Given the description of an element on the screen output the (x, y) to click on. 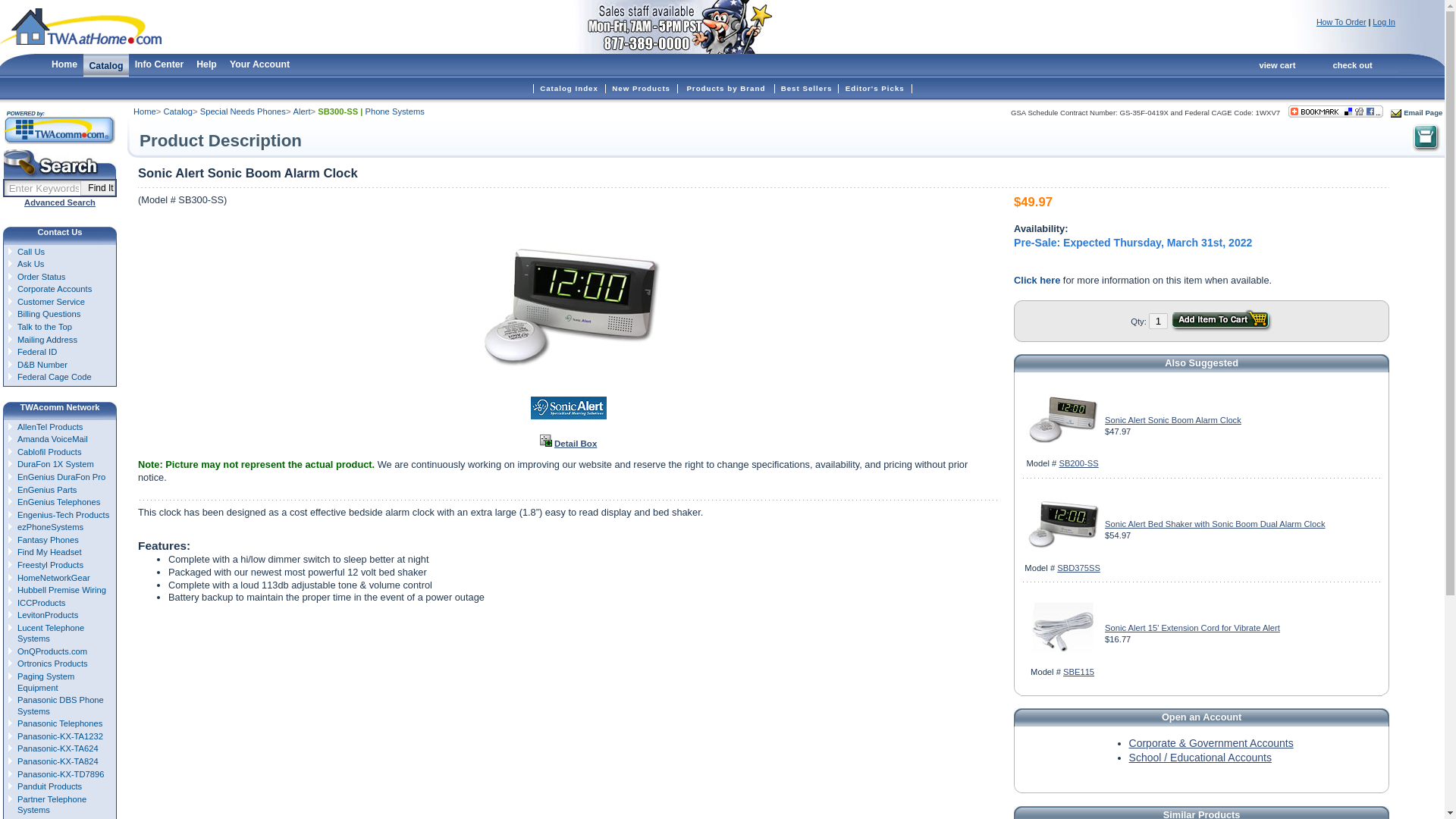
Catalog (178, 111)
check out (1351, 64)
 Find It!  (97, 187)
Home (63, 63)
1 (1157, 320)
Hubbell Premise Wiring (61, 590)
Help (206, 63)
ezPhoneSystems (61, 527)
Add To Cart (1220, 320)
EnGenius DuraFon Pro (61, 477)
